Given the description of an element on the screen output the (x, y) to click on. 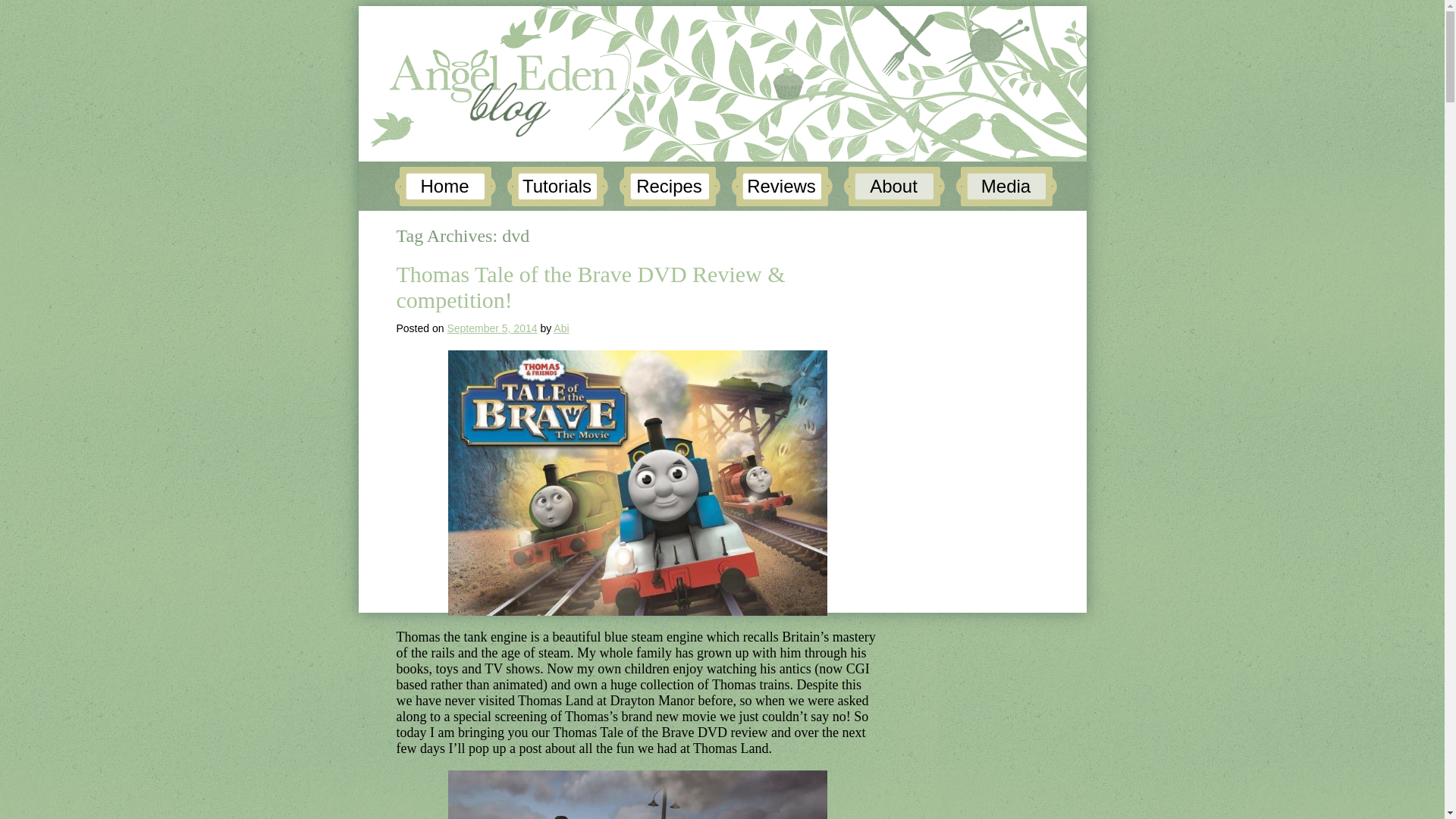
Tutorials (557, 186)
Media (1006, 186)
Recipes (669, 186)
September 5, 2014 (491, 328)
Home (445, 186)
Abi (561, 328)
View all posts by Abi (561, 328)
Reviews (781, 186)
About (893, 186)
